Given the description of an element on the screen output the (x, y) to click on. 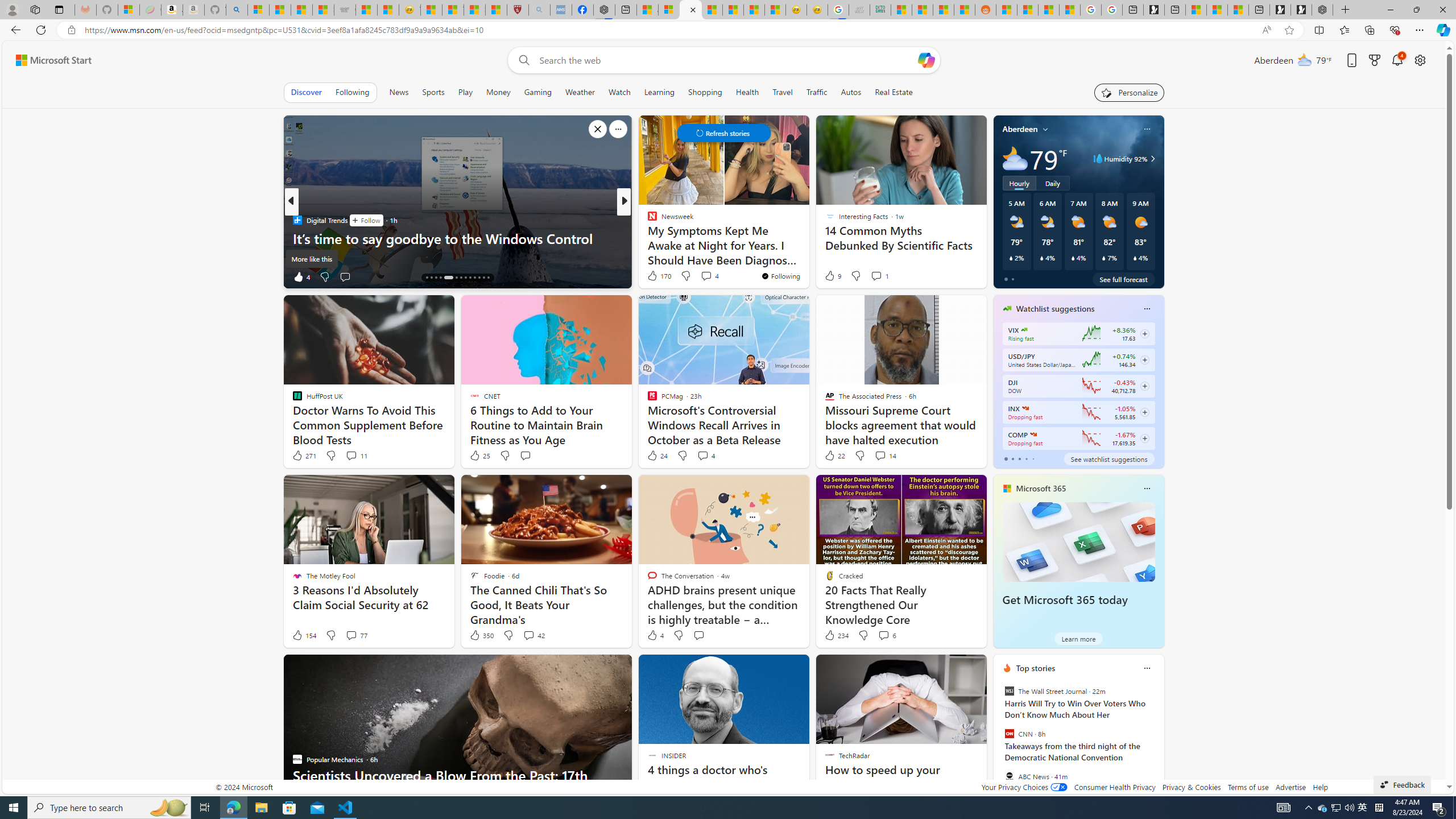
View comments 42 Comment (533, 634)
Aberdeen (1019, 128)
AutomationID: tab-19 (456, 277)
FOX News (647, 219)
170 Like (658, 275)
3k Like (652, 276)
View comments 73 Comment (703, 276)
